Given the description of an element on the screen output the (x, y) to click on. 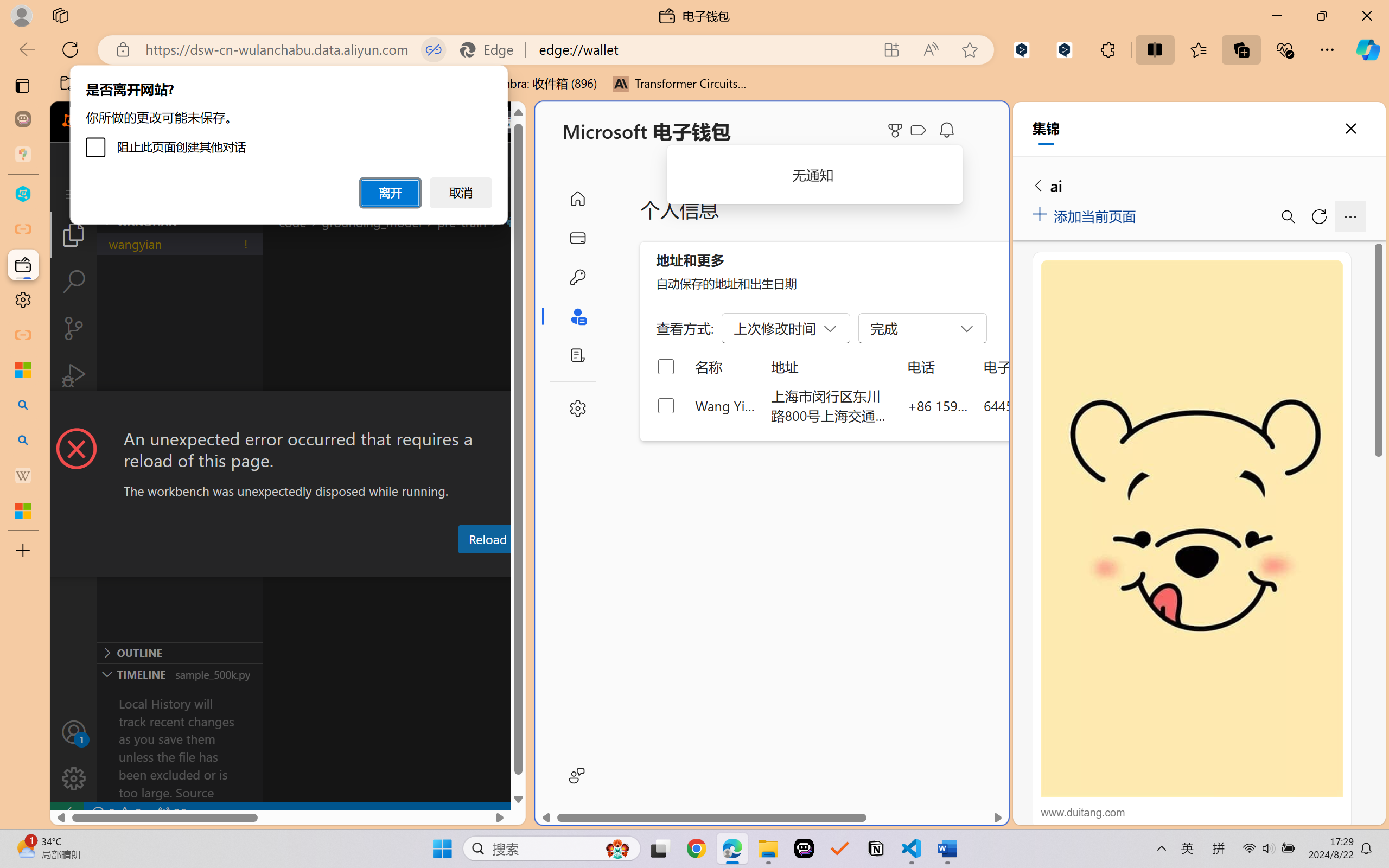
644553698@qq.com (1043, 405)
+86 159 0032 4640 (938, 405)
Accounts - Sign in requested (73, 732)
Wang Yian (725, 405)
Microsoft security help and learning (22, 369)
